Given the description of an element on the screen output the (x, y) to click on. 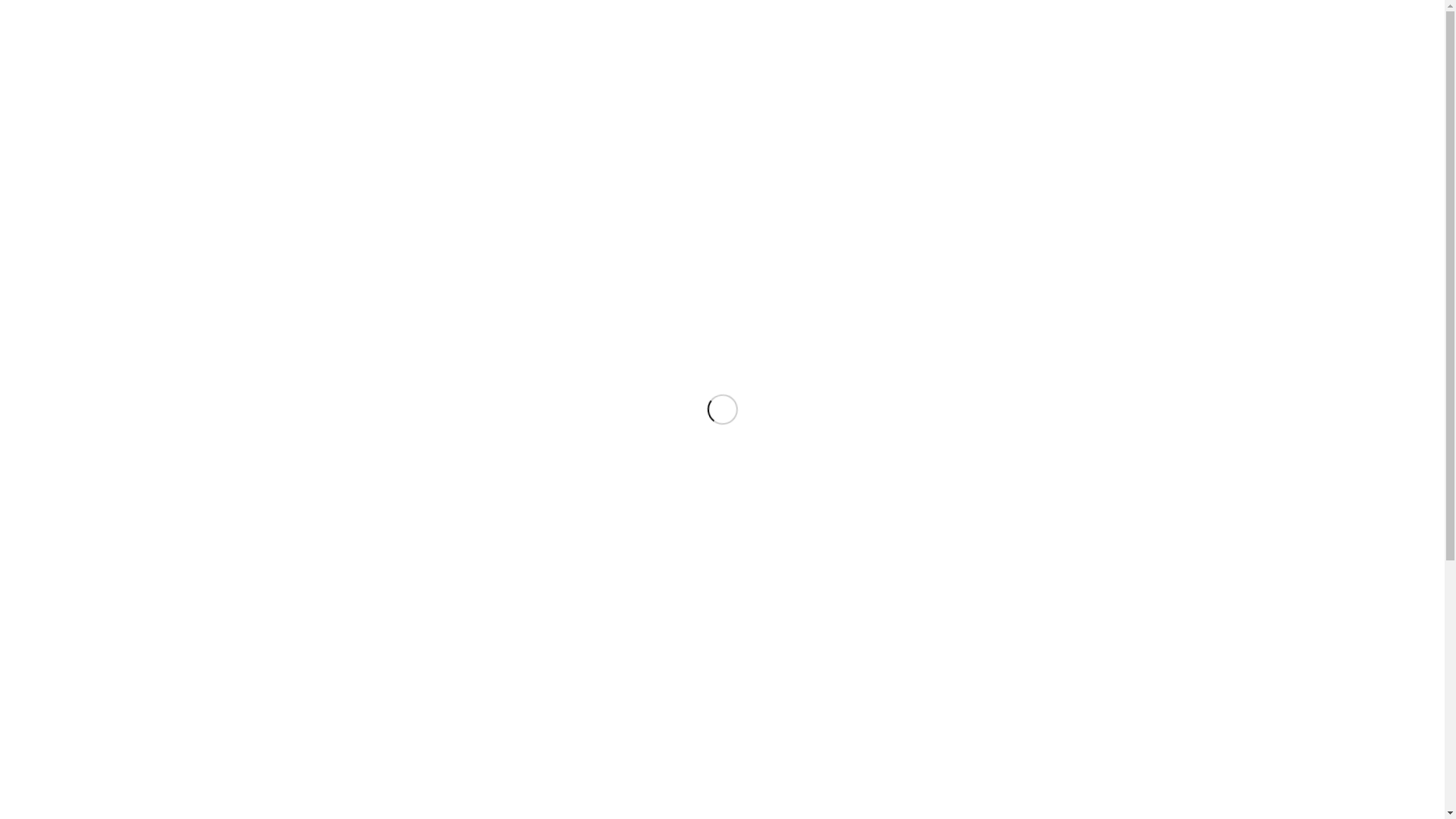
April 2016 Element type: text (399, 744)
Caringal Element type: text (548, 562)
Information Element type: text (579, 131)
February 2015 Element type: text (409, 761)
Twitter Element type: hover (1033, 11)
May 2016 Element type: text (398, 728)
Tassie Element type: text (434, 627)
MPFF-Logo Element type: hover (722, 67)
AGM Element type: text (393, 562)
fishing Element type: text (523, 584)
Annual Dinner Element type: text (444, 562)
August 2014 Element type: text (405, 777)
devilbend Element type: text (442, 584)
casting Element type: text (397, 584)
MPFF News Element type: text (836, 131)
one fly Element type: text (396, 627)
May 2017 Element type: text (398, 712)
Merrijig Element type: text (397, 605)
Galleries Element type: text (904, 131)
MPFF-Logo Element type: hover (722, 66)
MPFF Event Calendar Element type: text (738, 131)
Membership Element type: text (503, 131)
September 2017 Element type: text (413, 696)
July 2014 Element type: text (398, 794)
Noojee Element type: text (493, 605)
April 2014 Element type: text (399, 809)
Home Element type: text (987, 172)
Contact Us Element type: text (971, 131)
Big River Element type: text (501, 562)
eildon Element type: text (485, 584)
Newsletter Element type: text (445, 605)
Home Element type: text (440, 131)
Learning Element type: text (646, 131)
NZ Trip Element type: text (533, 605)
Dribbble Element type: hover (1055, 11)
